Given the description of an element on the screen output the (x, y) to click on. 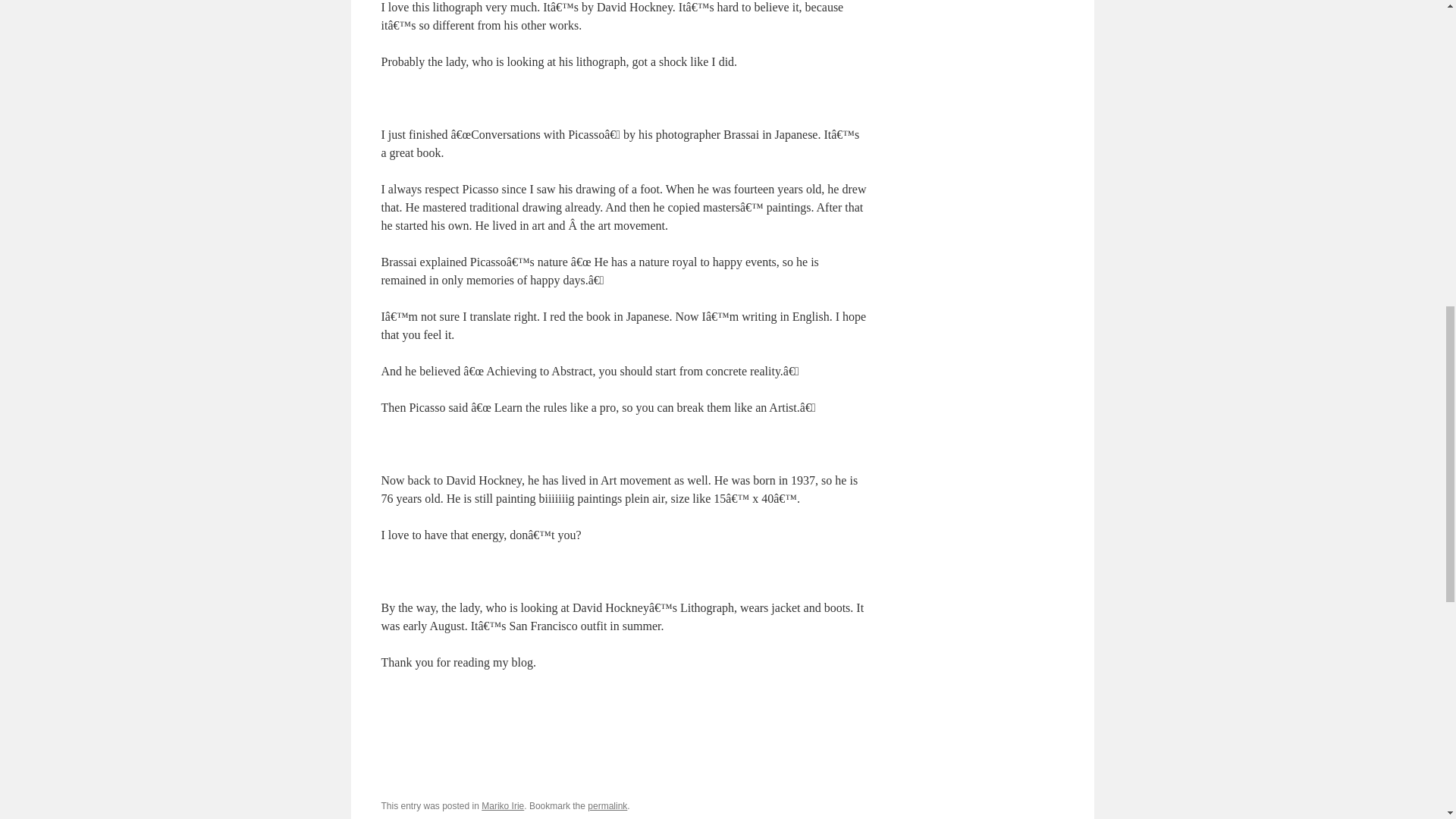
Mariko Irie (502, 805)
Permalink to Modeled Bodies (607, 805)
permalink (607, 805)
